Given the description of an element on the screen output the (x, y) to click on. 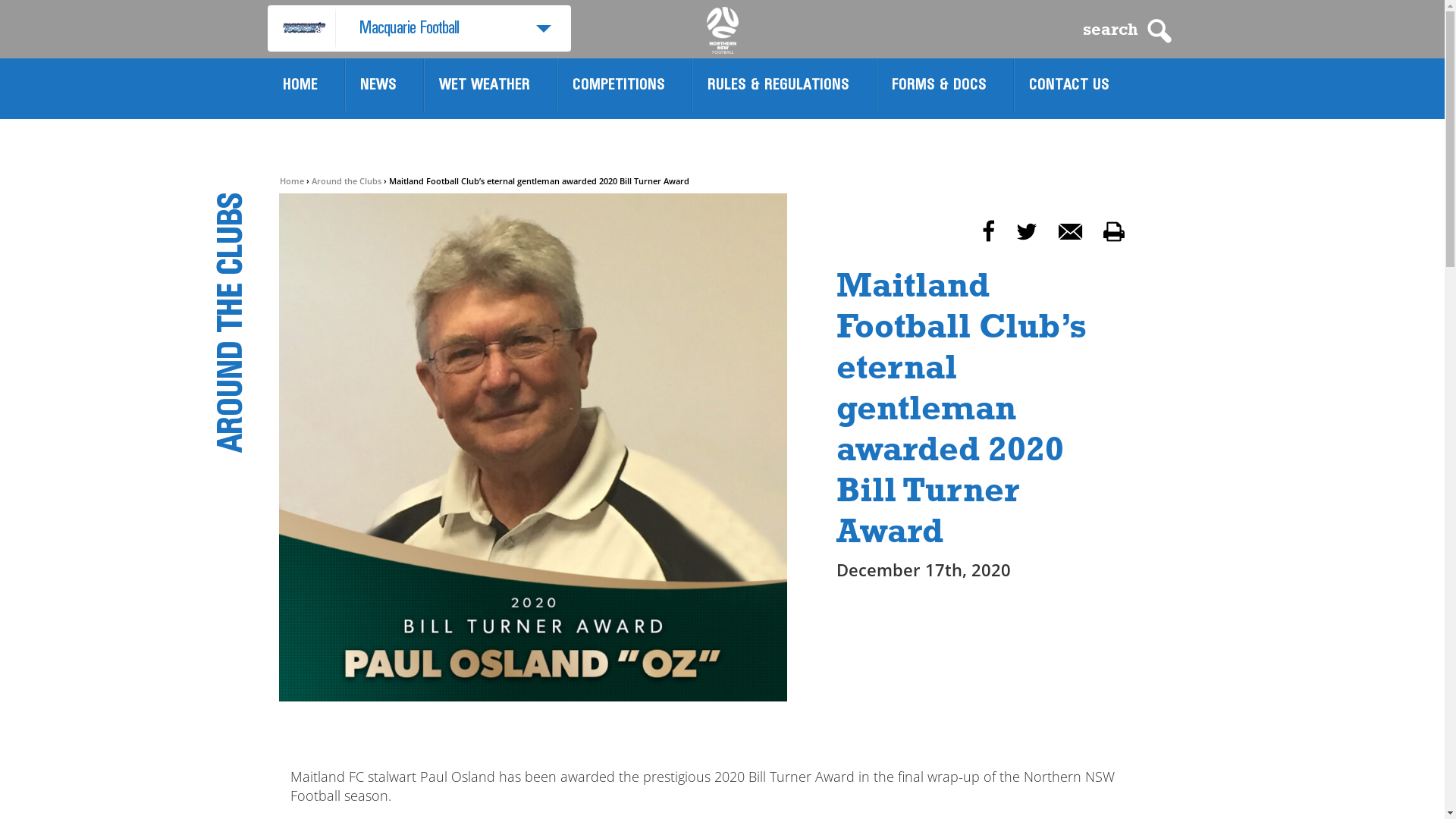
p Element type: text (1112, 231)
RULES & REGULATIONS Element type: text (777, 84)
t Element type: text (1026, 231)
S Element type: text (1158, 30)
AROUND THE CLUBS Element type: text (358, 198)
NNSWF Element type: text (722, 29)
m Element type: text (1070, 231)
CONTACT US Element type: text (1068, 84)
WET WEATHER Element type: text (483, 84)
f Element type: text (987, 231)
Home Element type: text (291, 180)
Around the Clubs Element type: text (345, 180)
HOME Element type: text (299, 84)
COMPETITIONS Element type: text (617, 84)
NEWS Element type: text (377, 84)
FORMS & DOCS Element type: text (938, 84)
